Given the description of an element on the screen output the (x, y) to click on. 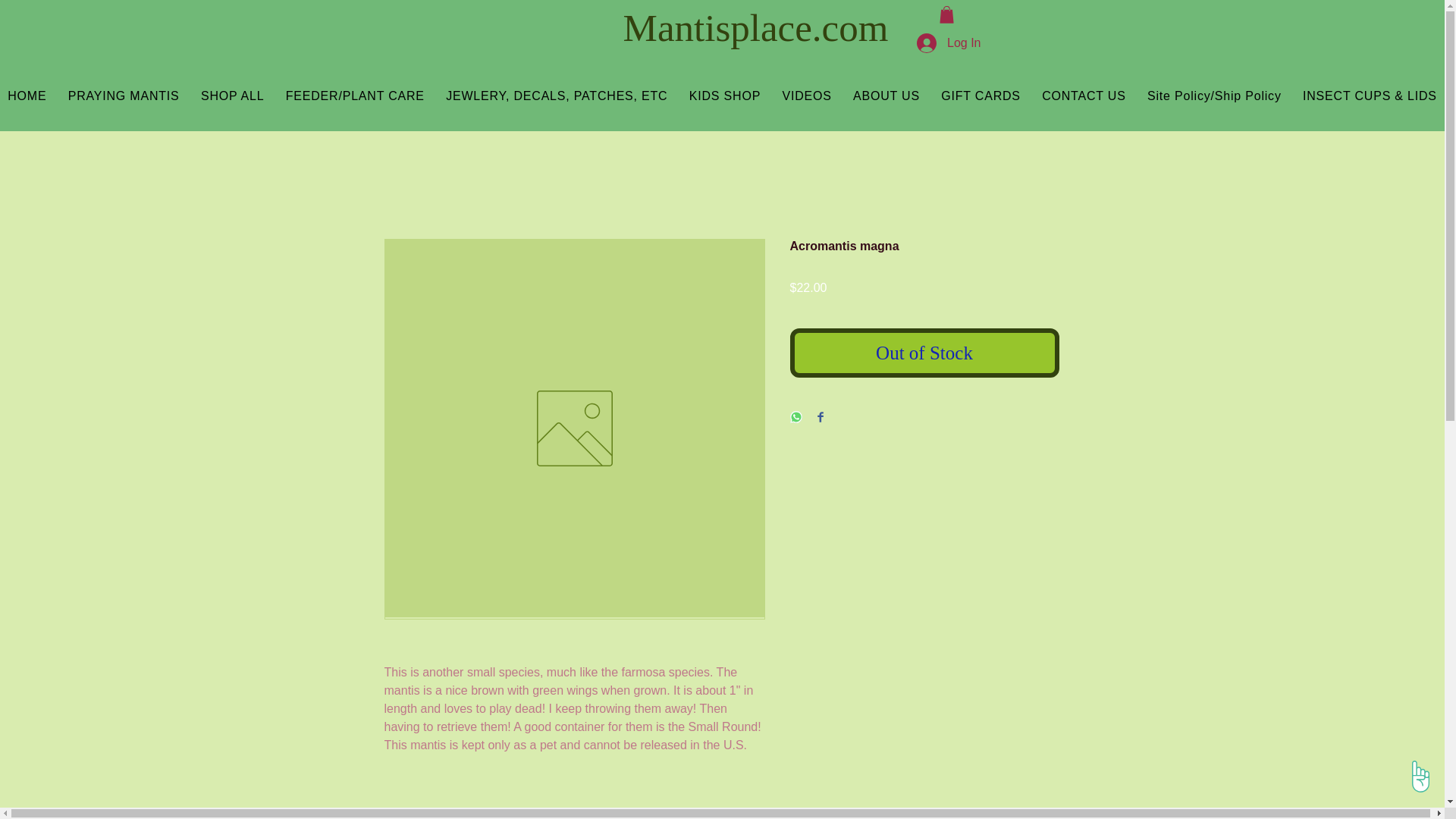
ABOUT US (886, 95)
VIDEOS (807, 95)
PRAYING MANTIS (124, 95)
Out of Stock (924, 353)
GIFT CARDS (980, 95)
KIDS SHOP (724, 95)
Log In (948, 42)
CONTACT US (1083, 95)
JEWLERY, DECALS, PATCHES, ETC (556, 95)
HOME (27, 95)
